Given the description of an element on the screen output the (x, y) to click on. 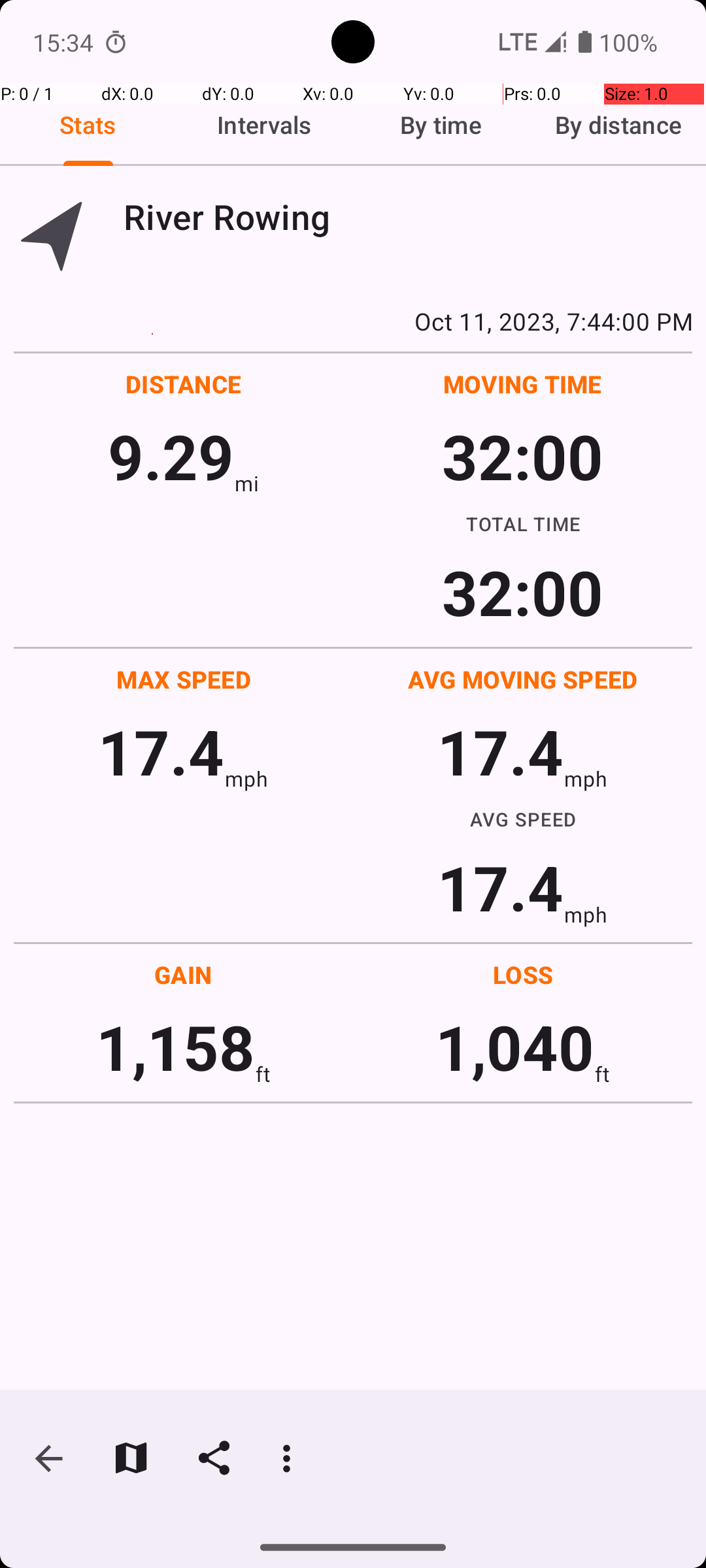
River Rowing Element type: android.widget.TextView (407, 216)
Oct 11, 2023, 7:44:00 PM Element type: android.widget.TextView (352, 320)
9.29 Element type: android.widget.TextView (170, 455)
32:00 Element type: android.widget.TextView (522, 455)
17.4 Element type: android.widget.TextView (161, 750)
1,158 Element type: android.widget.TextView (175, 1045)
1,040 Element type: android.widget.TextView (514, 1045)
